Given the description of an element on the screen output the (x, y) to click on. 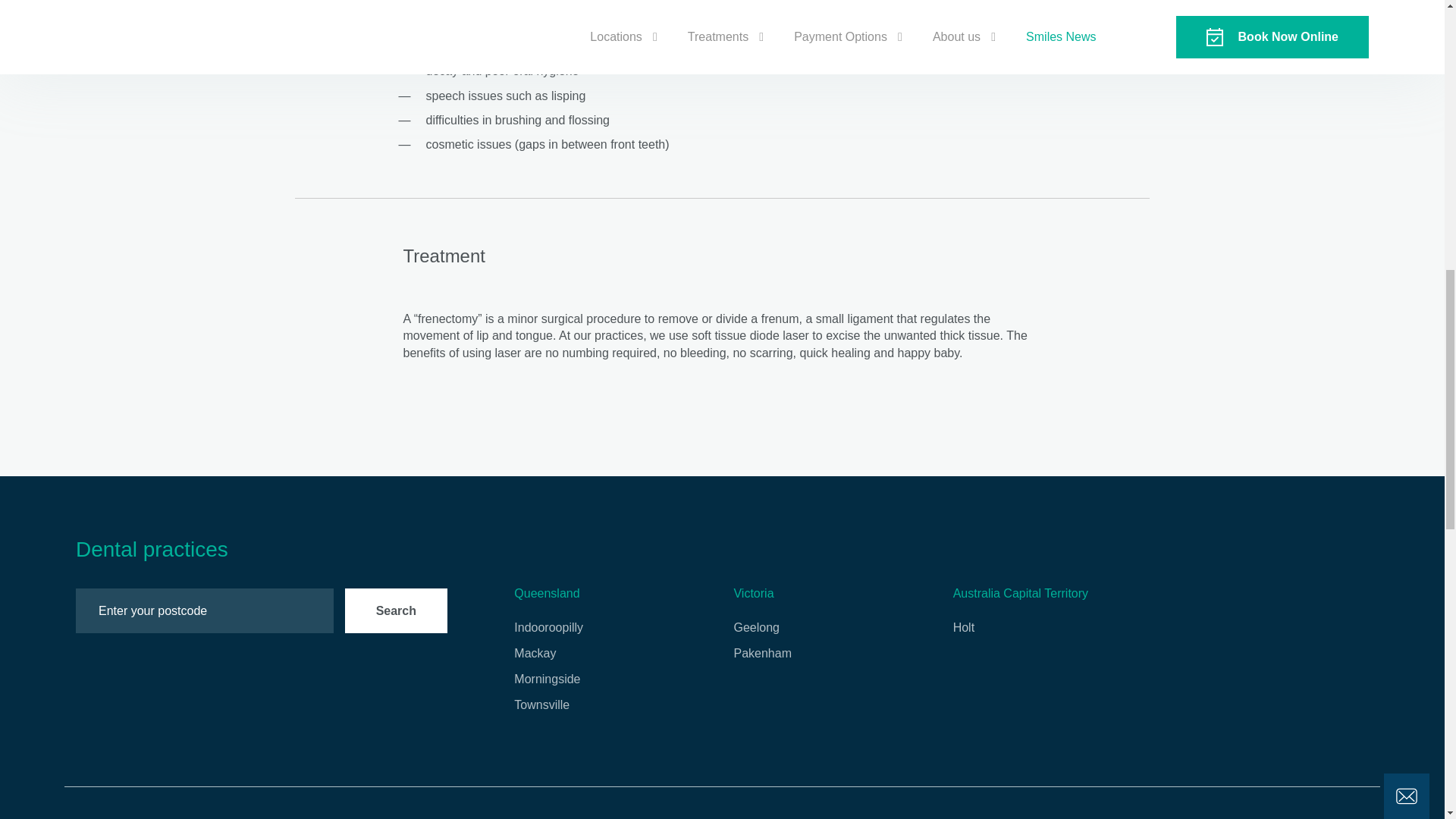
Indooroopilly (548, 628)
Townsville (541, 705)
Search (395, 610)
Mackay (534, 653)
Morningside (546, 679)
